Given the description of an element on the screen output the (x, y) to click on. 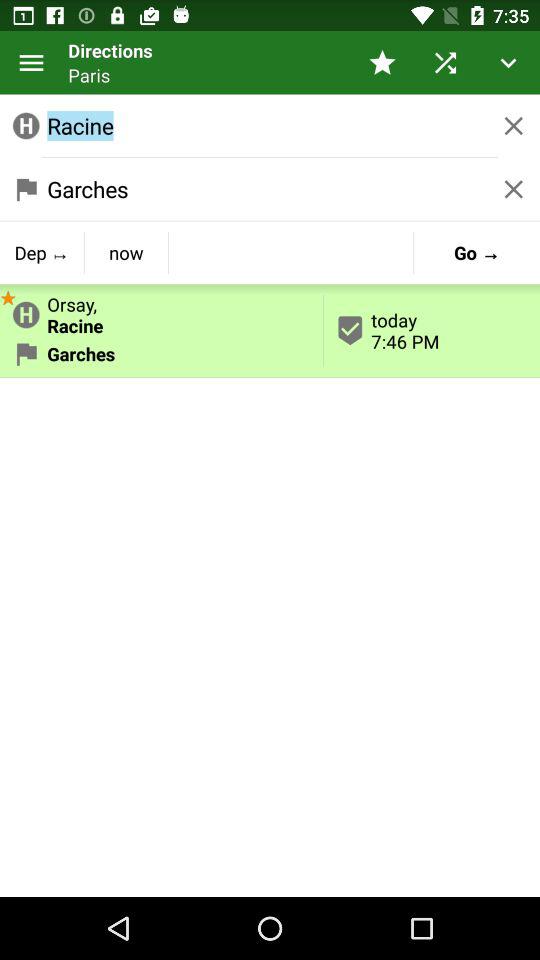
click icon next to the now (8, 296)
